Given the description of an element on the screen output the (x, y) to click on. 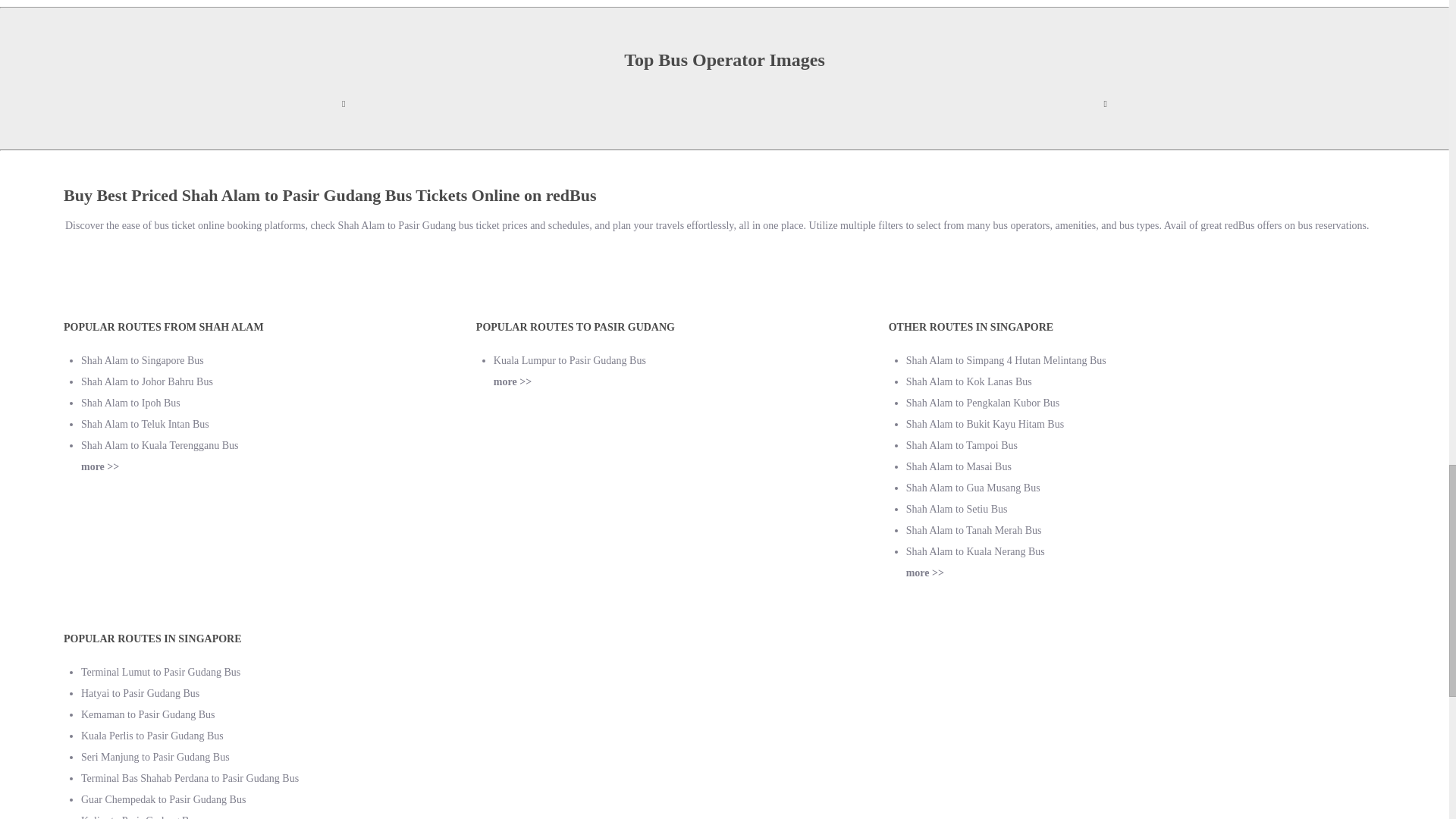
Kulim to Pasir Gudang Bus (139, 816)
Terminal Lumut to Pasir Gudang Bus (160, 672)
Guar Chempedak to Pasir Gudang Bus (163, 799)
Kemaman to Pasir Gudang Bus (148, 714)
Shah Alam to Simpang 4 Hutan Melintang Bus (1005, 360)
Shah Alam to Johor Bahru Bus (146, 381)
Shah Alam to Singapore Bus (142, 360)
Shah Alam to Gua Musang Bus (973, 487)
Kuala Lumpur to Pasir Gudang Bus (569, 360)
Shah Alam to Pengkalan Kubor Bus (982, 402)
Shah Alam to Masai Bus (958, 466)
Hatyai to Pasir Gudang Bus (140, 693)
Shah Alam to Teluk Intan Bus (145, 423)
Shah Alam to Bukit Kayu Hitam Bus (984, 423)
Terminal Bas Shahab Perdana to Pasir Gudang Bus (189, 778)
